Given the description of an element on the screen output the (x, y) to click on. 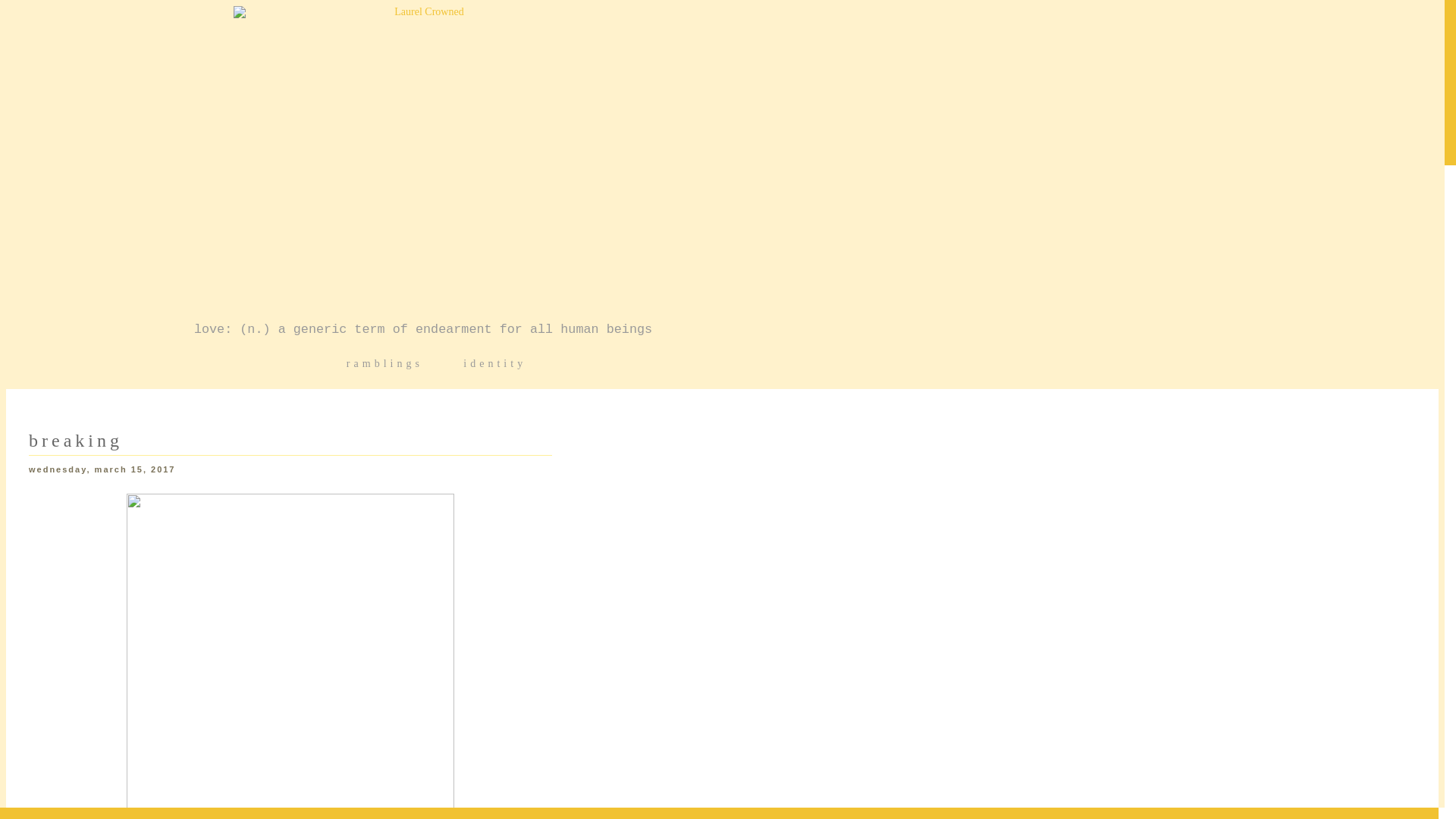
identity (490, 363)
ramblings (382, 363)
